Given the description of an element on the screen output the (x, y) to click on. 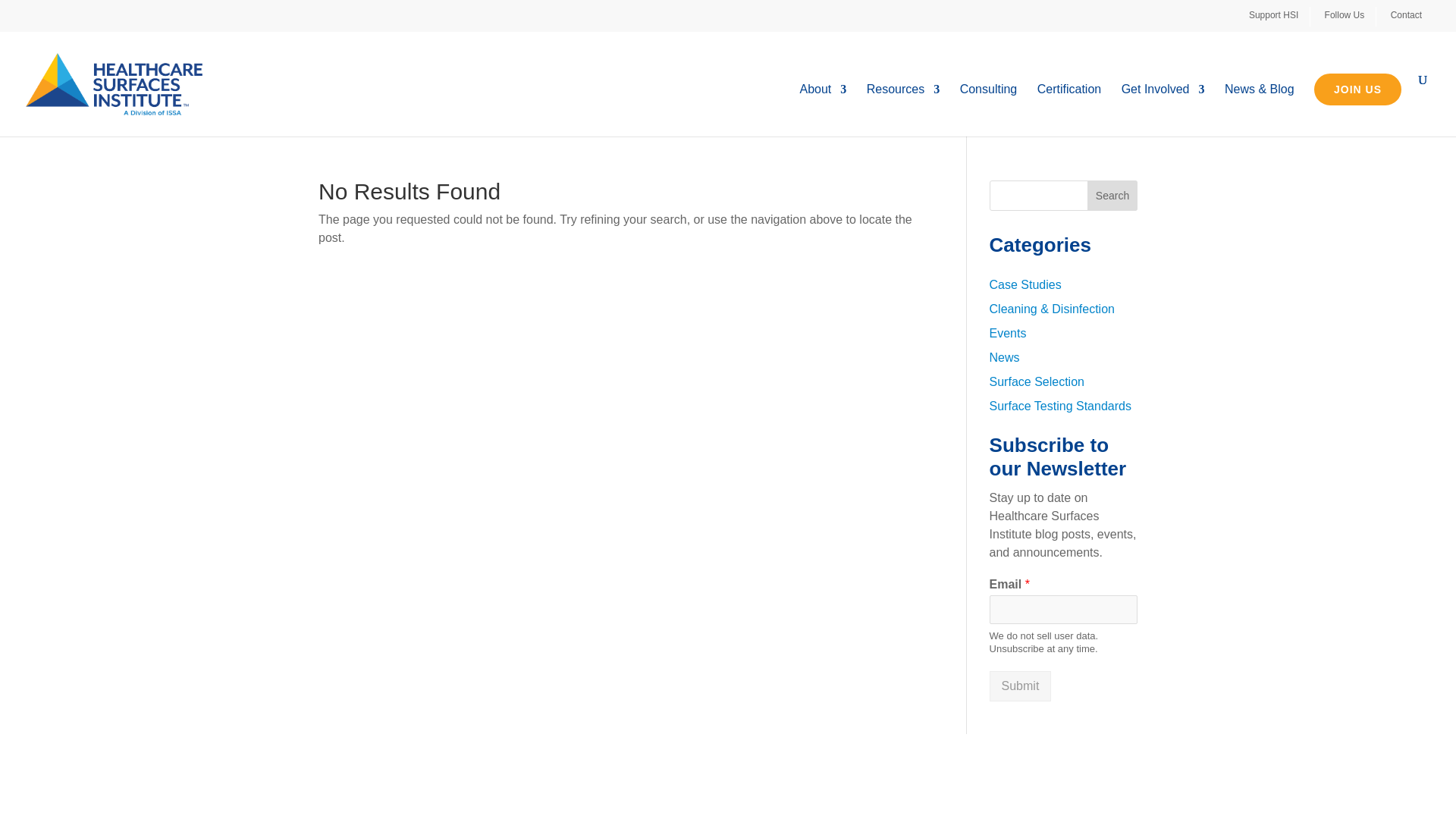
Support HSI (1278, 16)
Get Involved (1163, 110)
Consulting (988, 110)
Contact (1411, 16)
Certification (1068, 110)
Resources (902, 110)
Search (1112, 195)
About (822, 110)
Follow Us (1349, 16)
JOIN US (1357, 89)
